Given the description of an element on the screen output the (x, y) to click on. 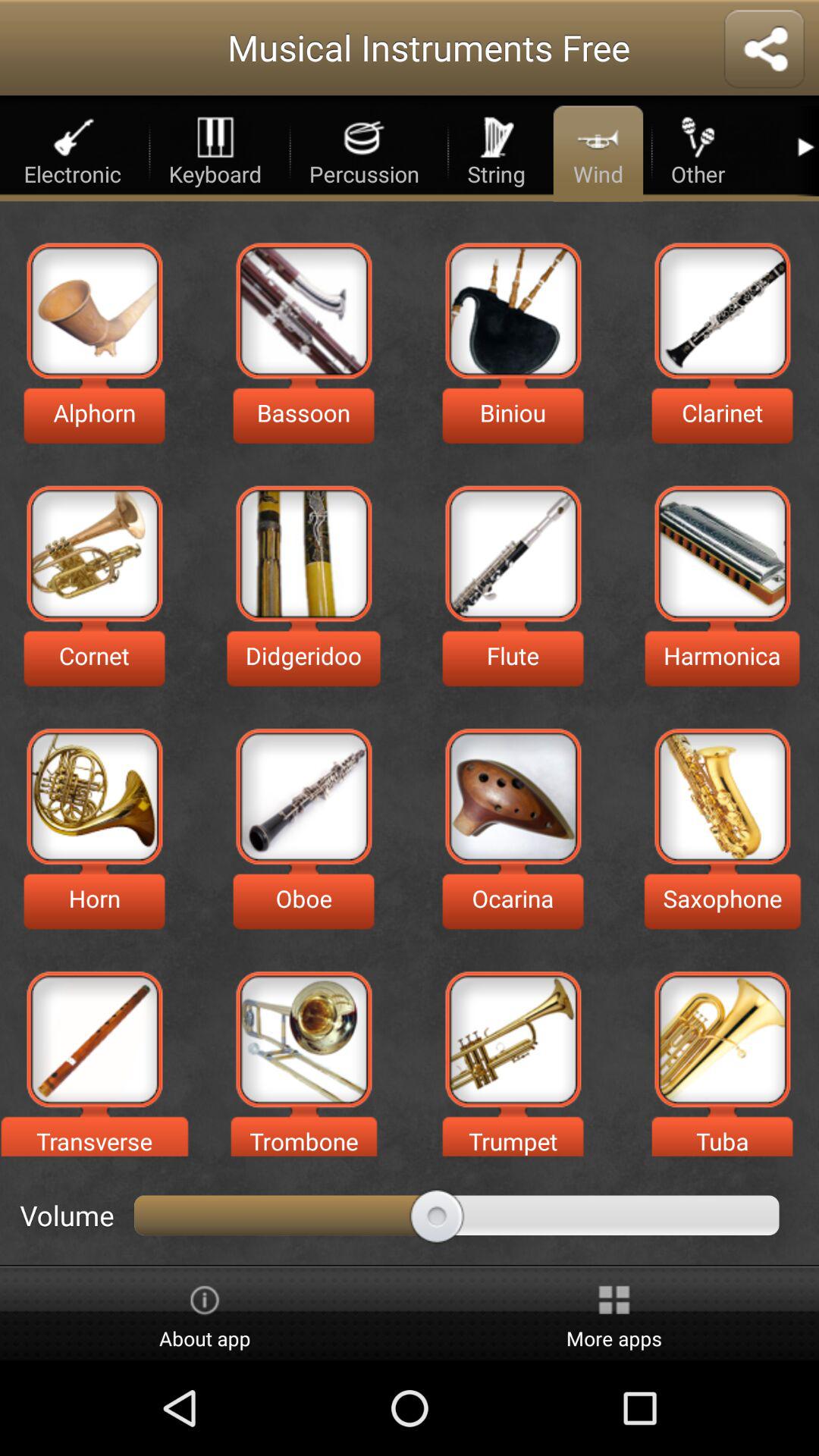
play the musical instrument (303, 1039)
